Given the description of an element on the screen output the (x, y) to click on. 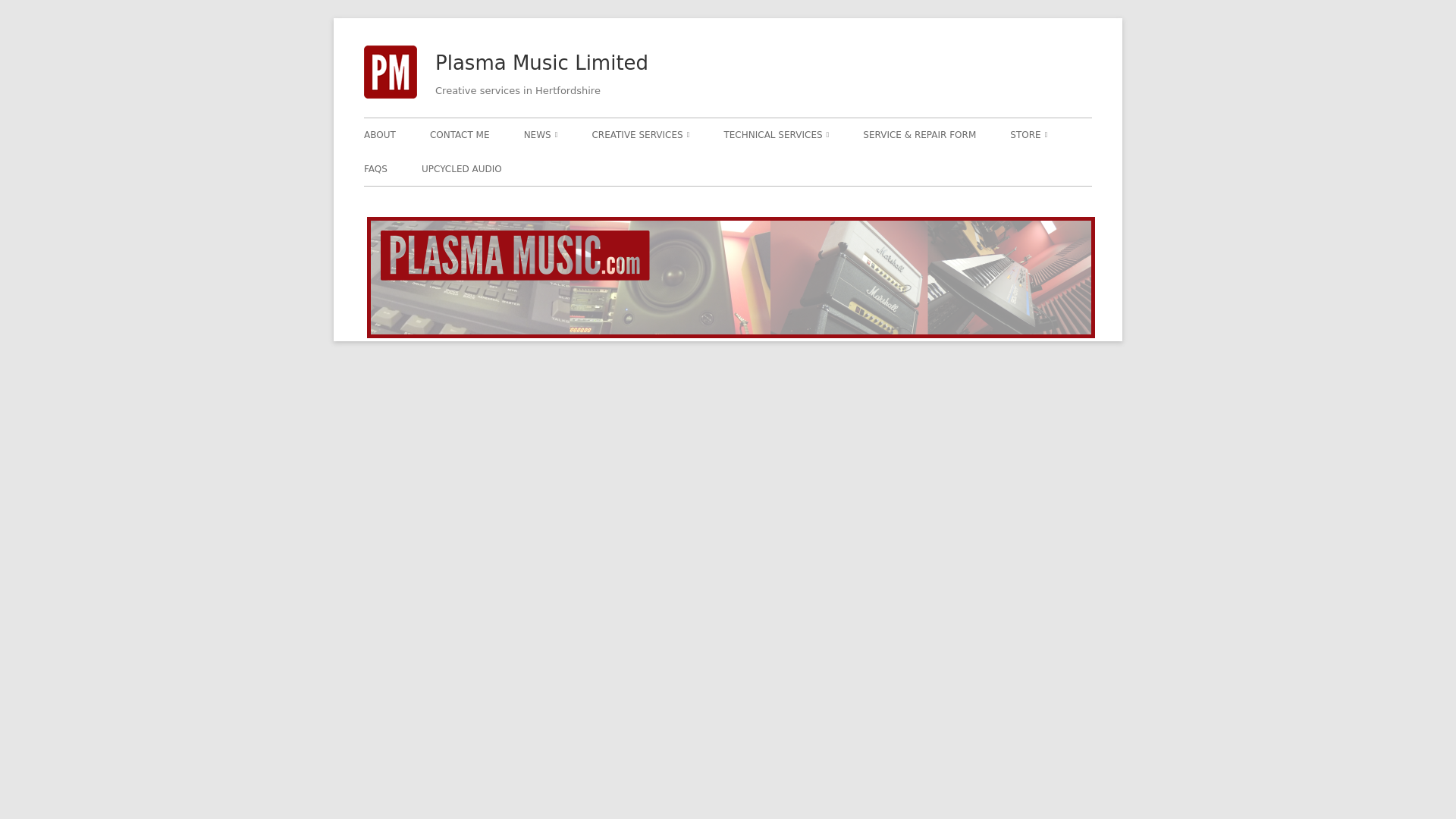
TECHNICAL SERVICES (775, 134)
NEWS (540, 134)
CONTACT ME (459, 134)
AUDIO RECORDING STUDIO (678, 167)
ABOUT (380, 134)
GUITAR AMP REPAIRS (809, 167)
Search (28, 12)
UPCYCLED AUDIO (462, 168)
CREATIVE SERVICES (639, 134)
STORE (1028, 134)
